Given the description of an element on the screen output the (x, y) to click on. 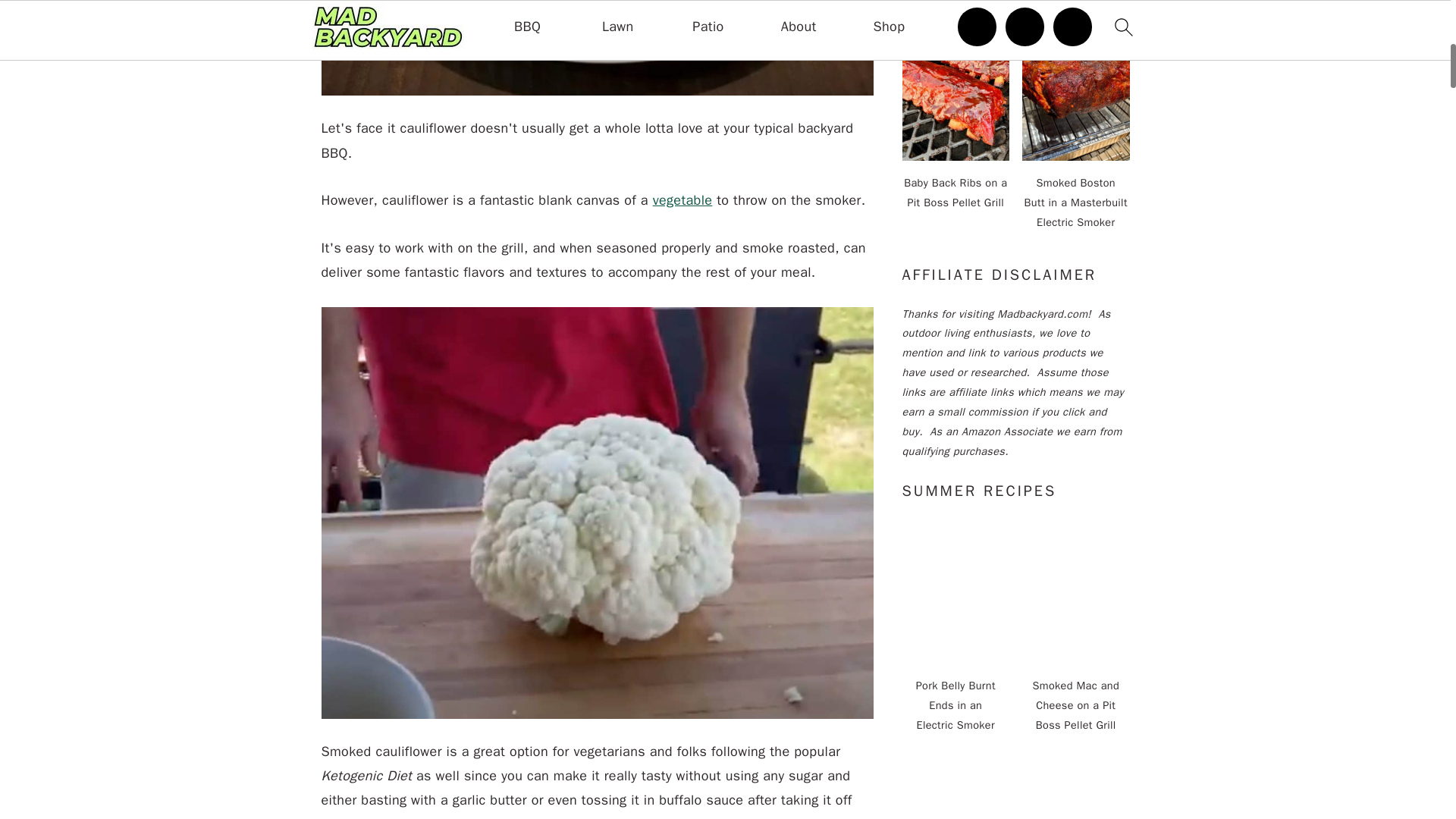
vegetable (682, 199)
